Given the description of an element on the screen output the (x, y) to click on. 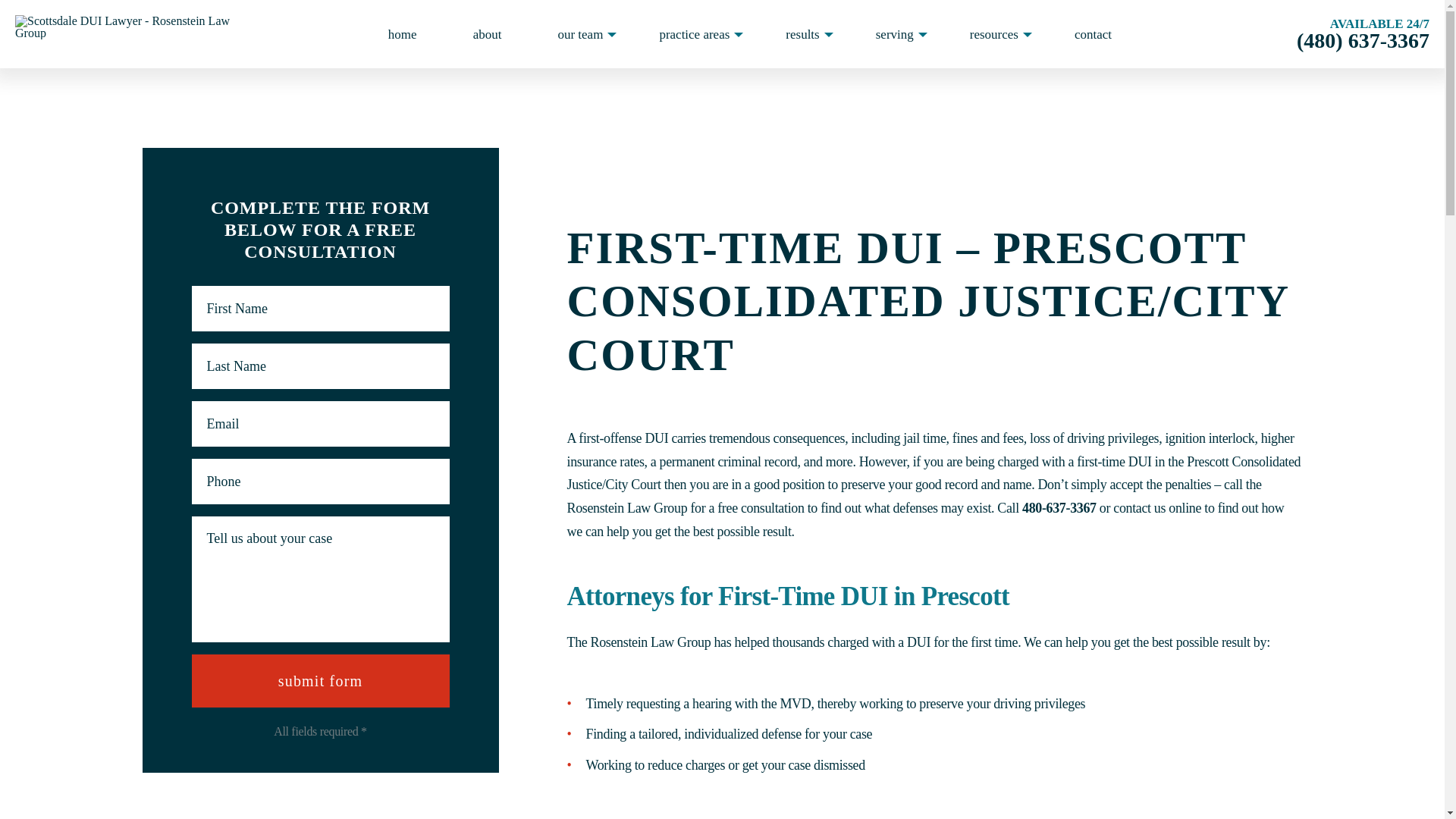
practice areas (694, 47)
results (802, 47)
resources (993, 47)
our team (579, 47)
480-637-3367 (1059, 507)
serving (894, 47)
Submit Form (319, 680)
about (486, 47)
contact (1092, 47)
Submit Form (319, 680)
home (402, 47)
